Given the description of an element on the screen output the (x, y) to click on. 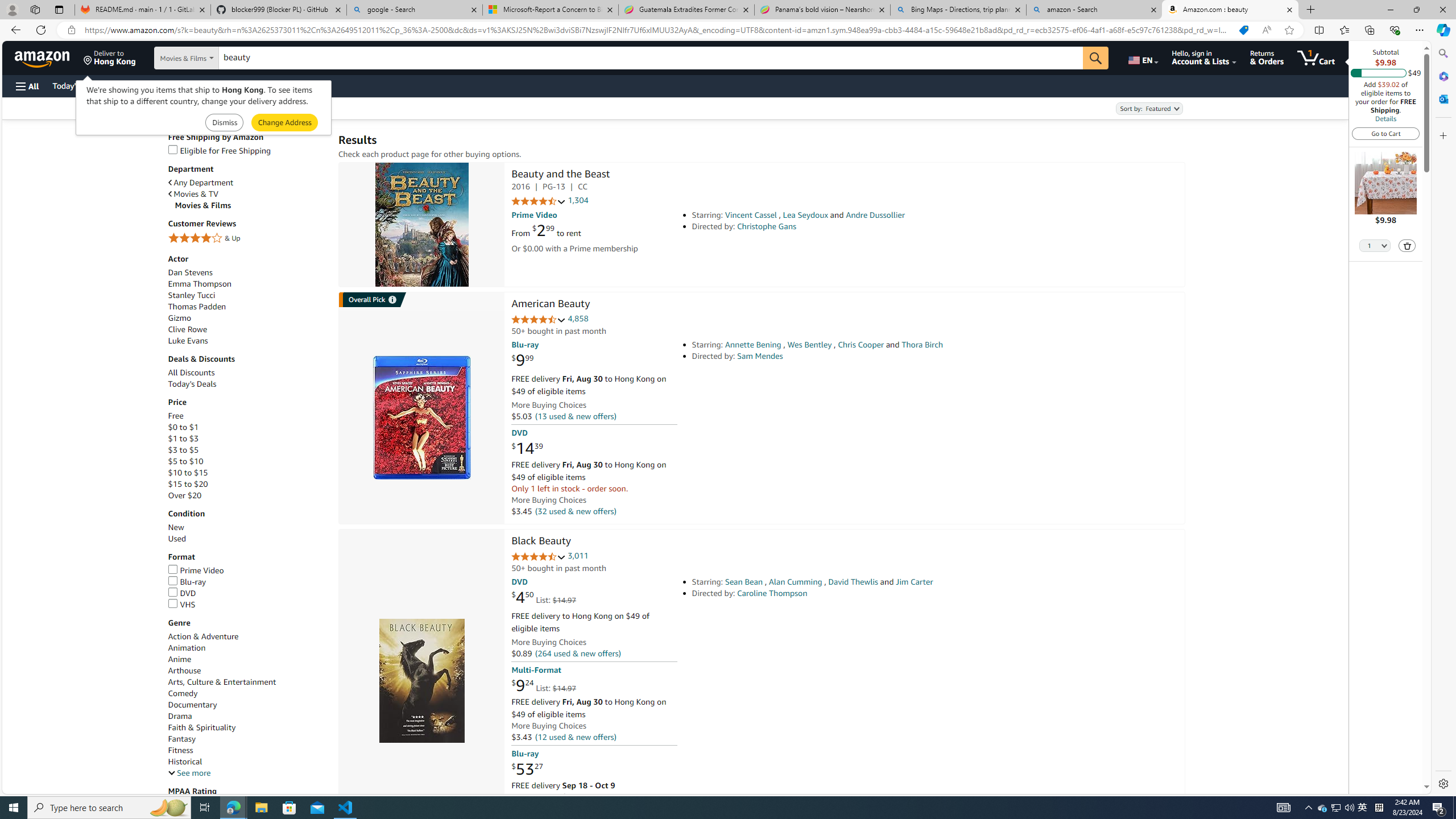
Comedy (182, 692)
Fantasy (247, 738)
Chris Cooper (860, 344)
Drama (247, 716)
$1 to $3 (247, 438)
Arts, Culture & Entertainment (247, 682)
(32 used & new offers) (574, 511)
Animation (247, 647)
Any Department (200, 182)
Animation (186, 647)
From $2.99 to rent (545, 230)
Gizmo (179, 317)
(13 used & new offers) (574, 416)
Alan Cumming (795, 581)
